Given the description of an element on the screen output the (x, y) to click on. 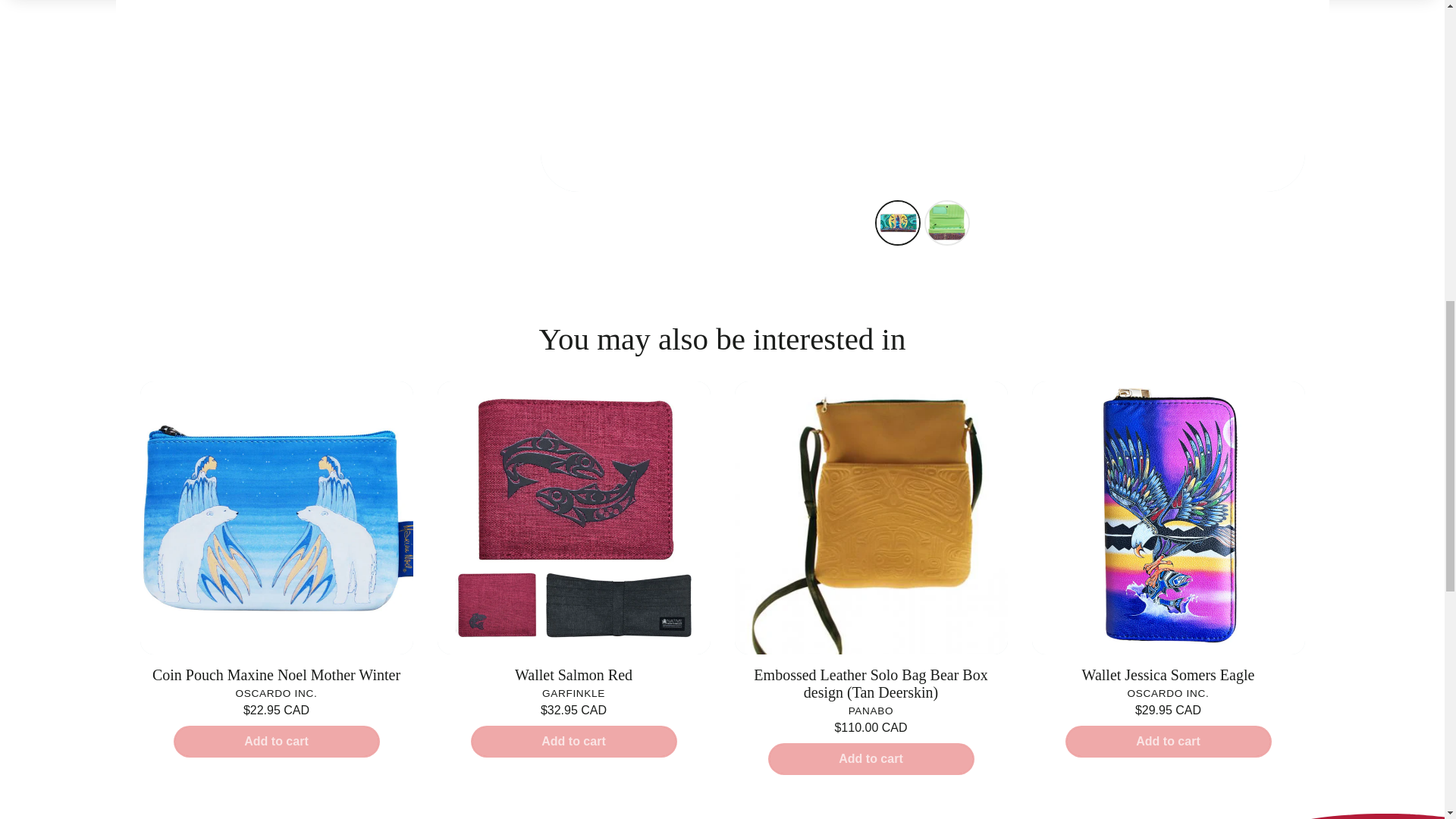
Coin Pouch Maxine Noel Mother Winter (276, 674)
Add to cart (275, 741)
